Given the description of an element on the screen output the (x, y) to click on. 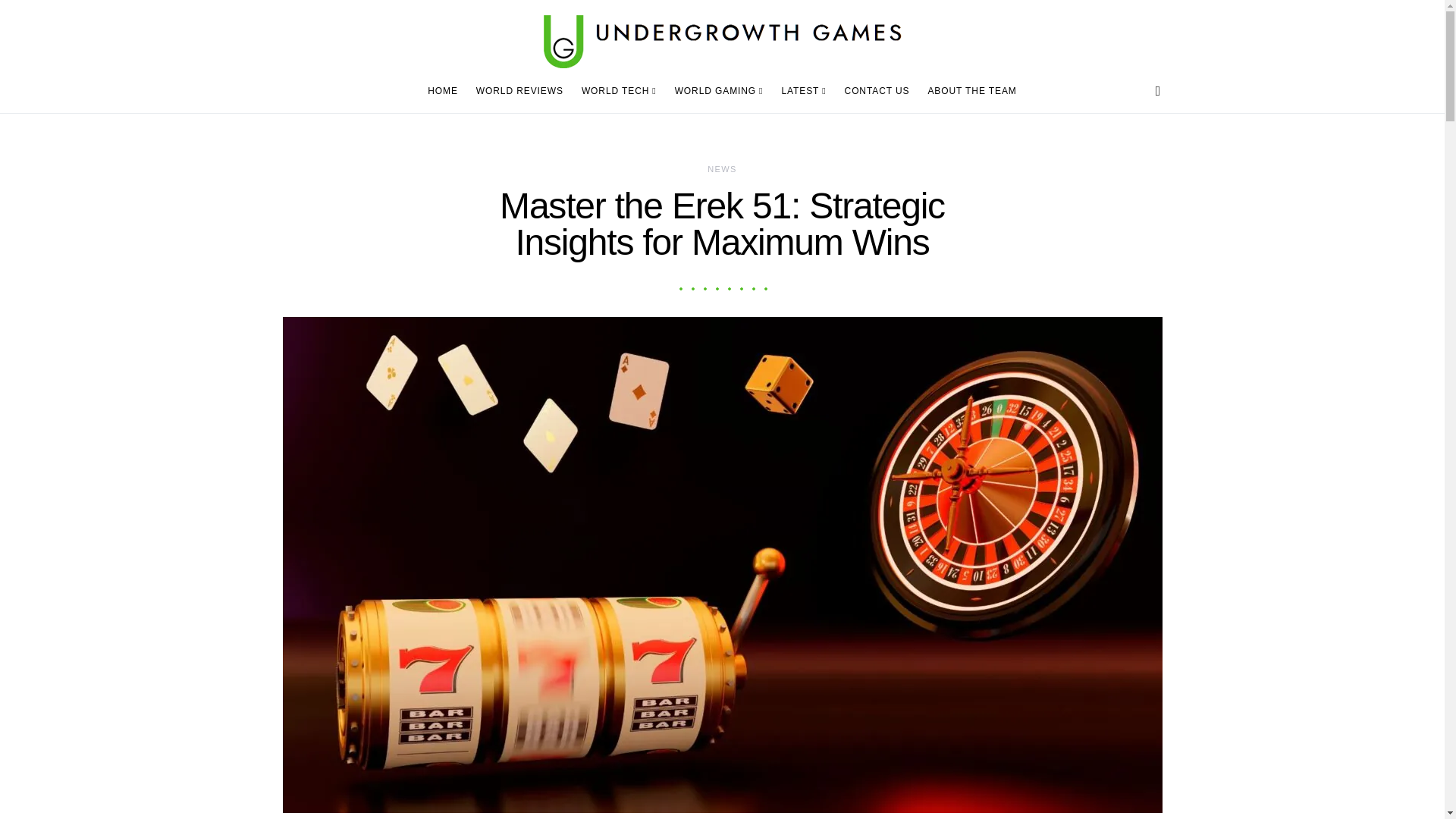
LATEST (802, 90)
CONTACT US (876, 90)
WORLD GAMING (719, 90)
NEWS (721, 168)
WORLD REVIEWS (519, 90)
WORLD TECH (618, 90)
ABOUT THE TEAM (967, 90)
